Given the description of an element on the screen output the (x, y) to click on. 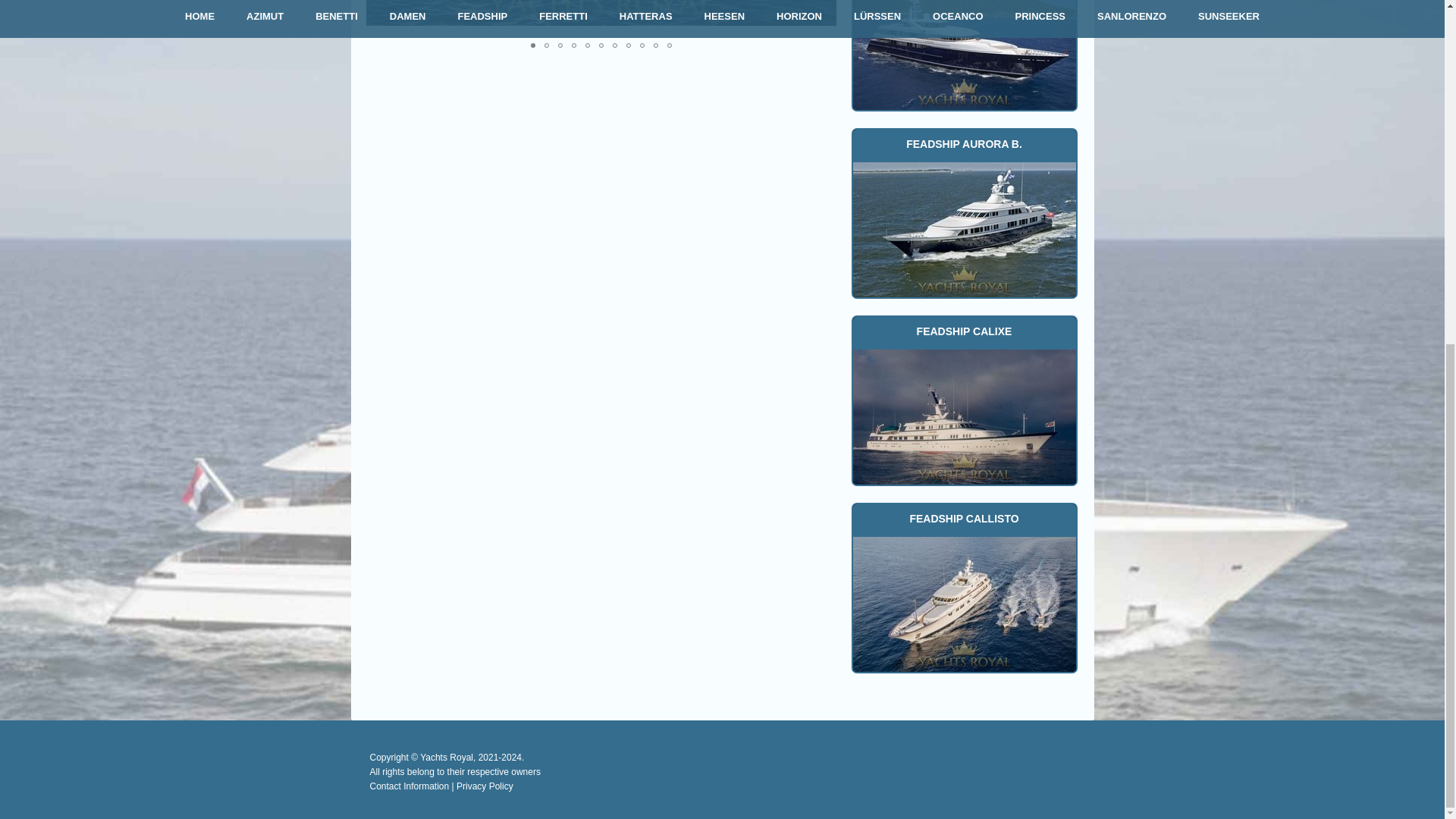
Contact Information (409, 786)
Privacy Policy (485, 786)
Feadship Callisto (963, 602)
Feadship Aurora B. (963, 227)
Feadship Archimedes (963, 54)
Yachts Royal (446, 757)
Feadship Calixe (963, 415)
